Given the description of an element on the screen output the (x, y) to click on. 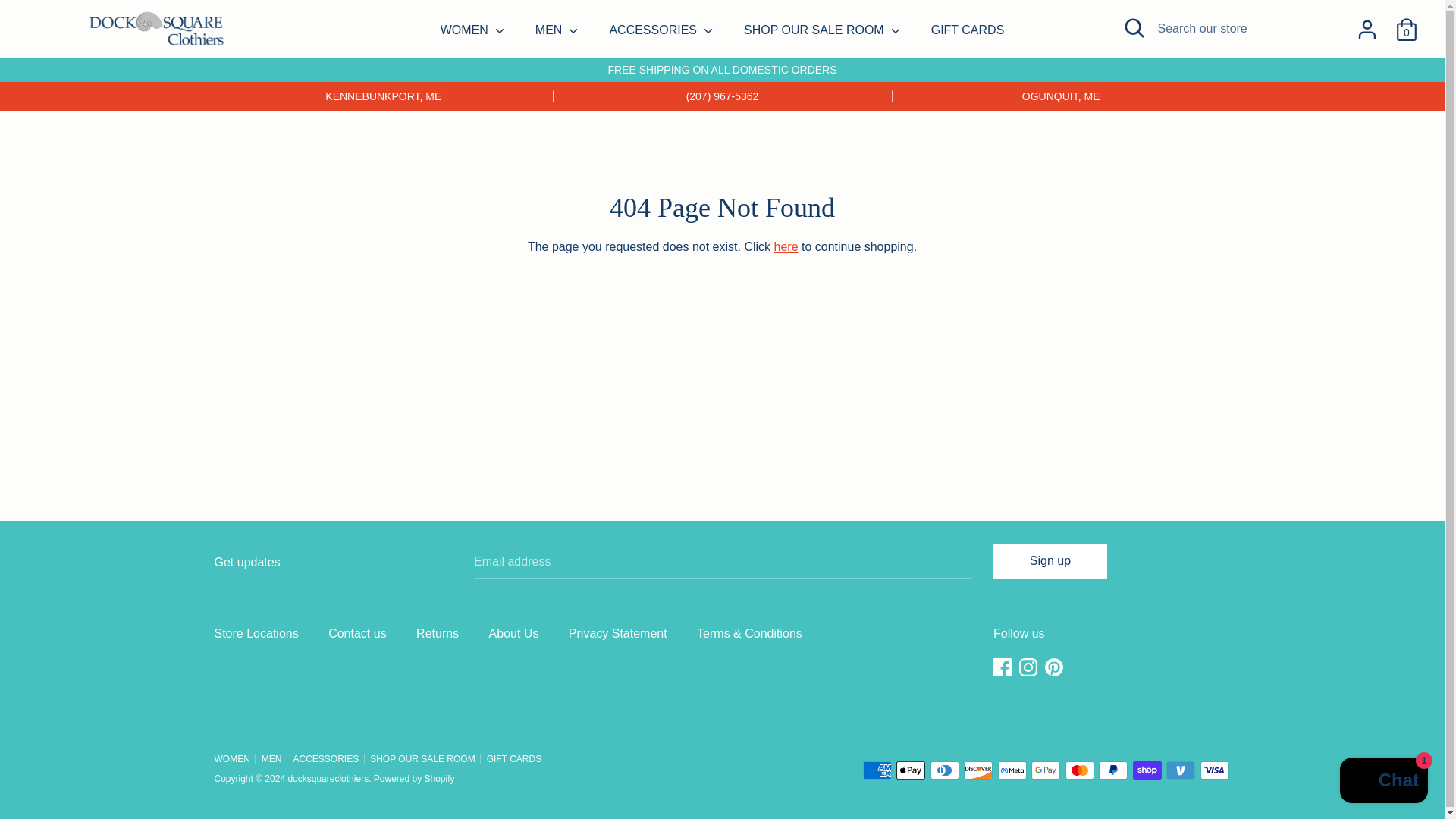
PayPal (1112, 770)
Discover (977, 770)
Venmo (1180, 770)
Google Pay (1044, 770)
Apple Pay (910, 770)
Meta Pay (1011, 770)
Diners Club (944, 770)
Instagram (1030, 667)
Facebook (1003, 667)
Pinterest (1055, 667)
Shop Pay (1146, 770)
Shopify online store chat (1383, 781)
Mastercard (1079, 770)
American Express (877, 770)
